Given the description of an element on the screen output the (x, y) to click on. 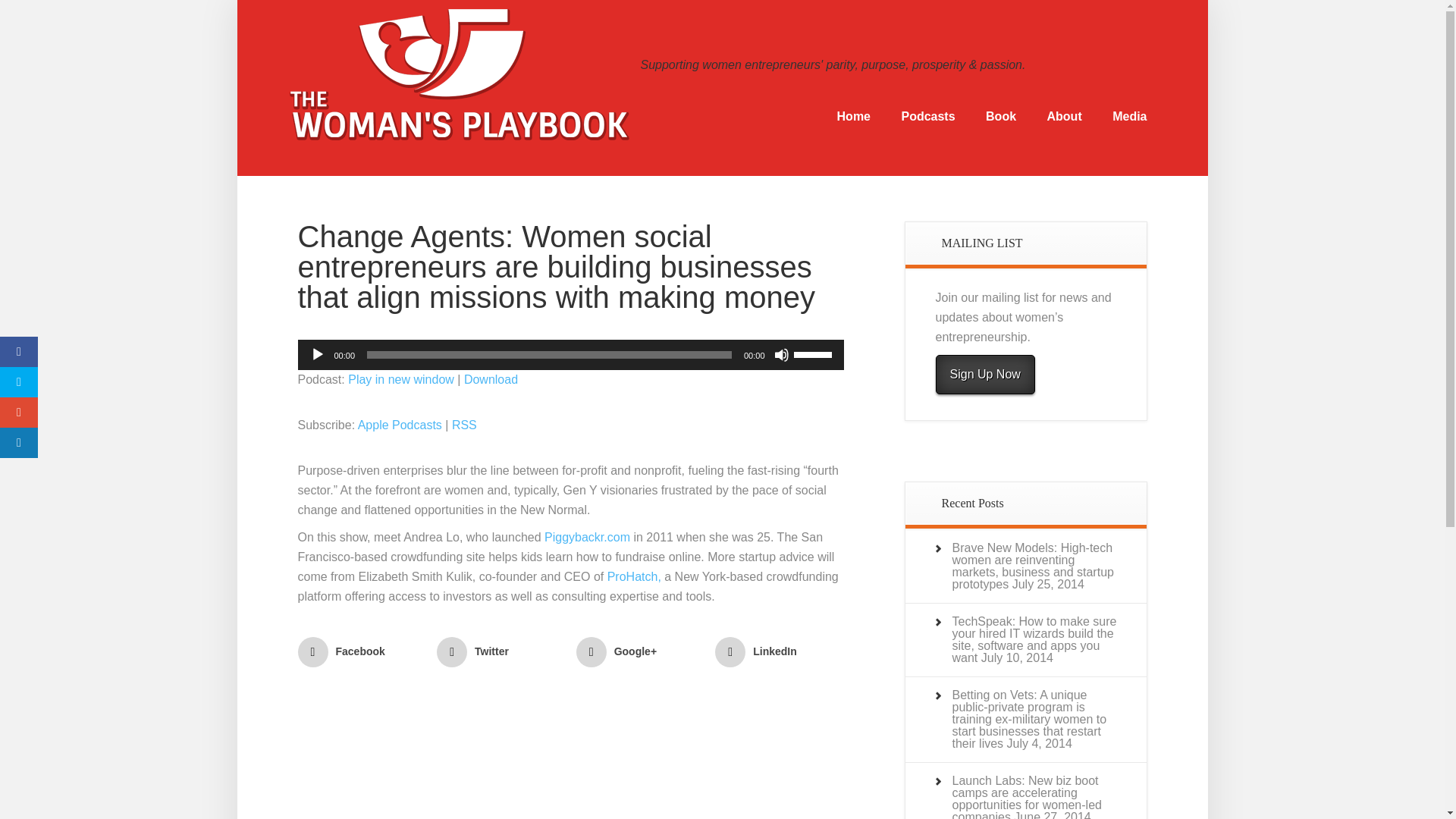
Apple Podcasts (400, 424)
Download (491, 379)
Podcasts (927, 116)
Facebook (361, 652)
Twitter (500, 652)
Play (316, 354)
Subscribe on Apple Podcasts (400, 424)
